Given the description of an element on the screen output the (x, y) to click on. 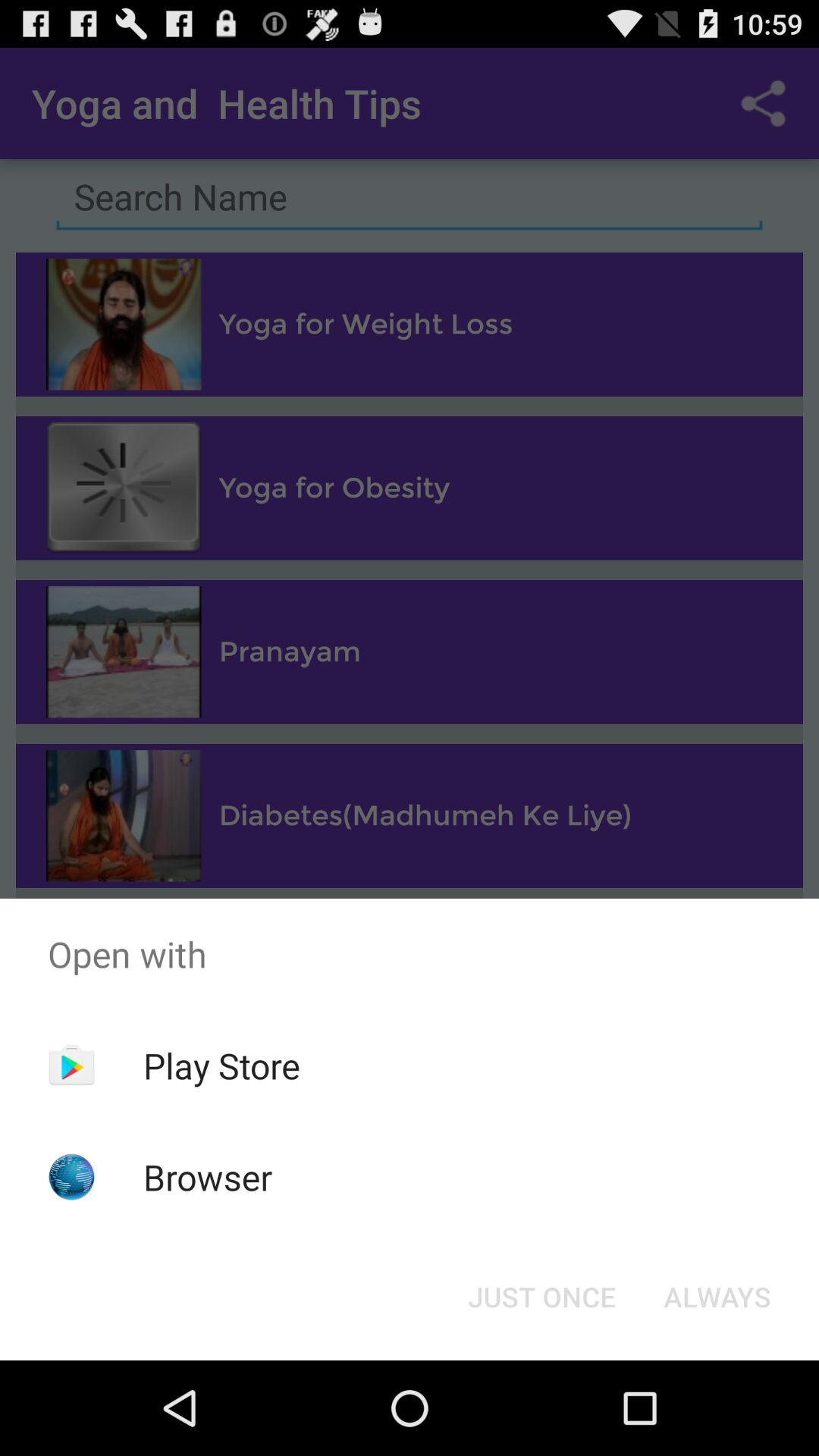
flip to browser icon (207, 1176)
